Given the description of an element on the screen output the (x, y) to click on. 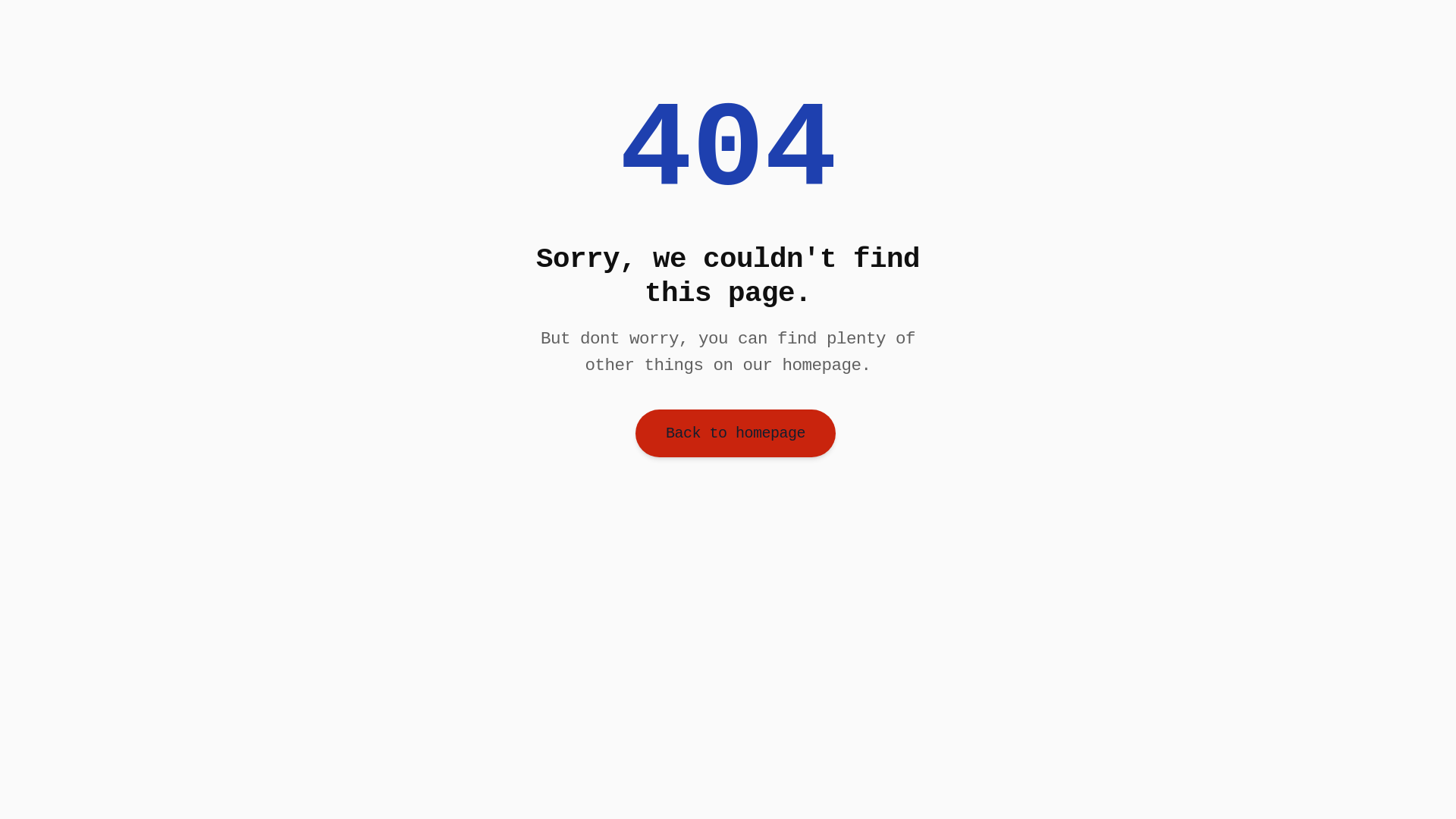
Back to homepage Element type: text (735, 433)
